Given the description of an element on the screen output the (x, y) to click on. 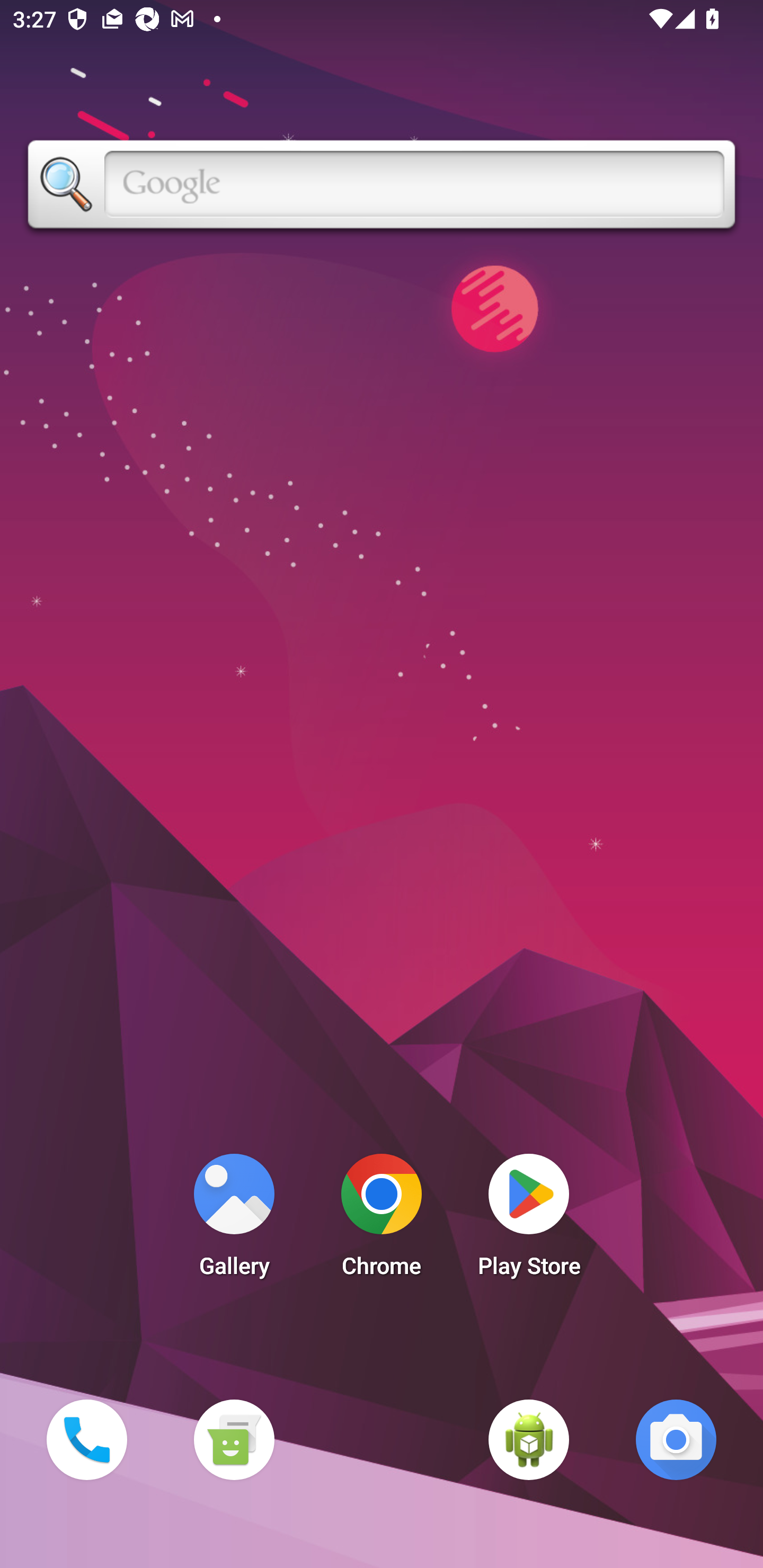
Gallery (233, 1220)
Chrome (381, 1220)
Play Store (528, 1220)
Phone (86, 1439)
Messaging (233, 1439)
WebView Browser Tester (528, 1439)
Camera (676, 1439)
